Given the description of an element on the screen output the (x, y) to click on. 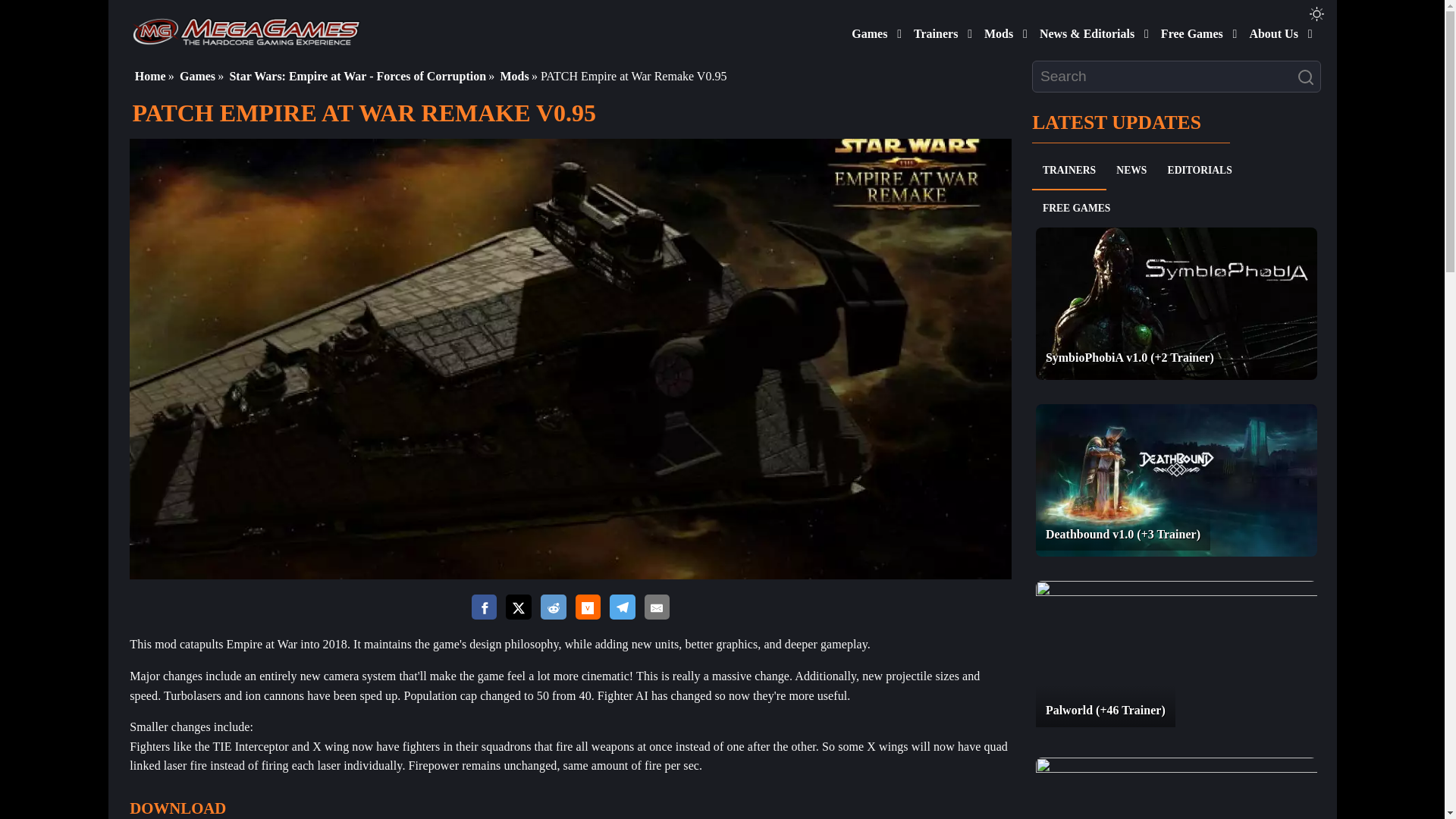
email (657, 606)
megagames.com (245, 30)
Trainers (932, 31)
Hacker News Share (587, 607)
Reddit (553, 606)
Telegram (622, 606)
Facebook (484, 606)
Email Share (656, 607)
Hackernews (587, 606)
